Given the description of an element on the screen output the (x, y) to click on. 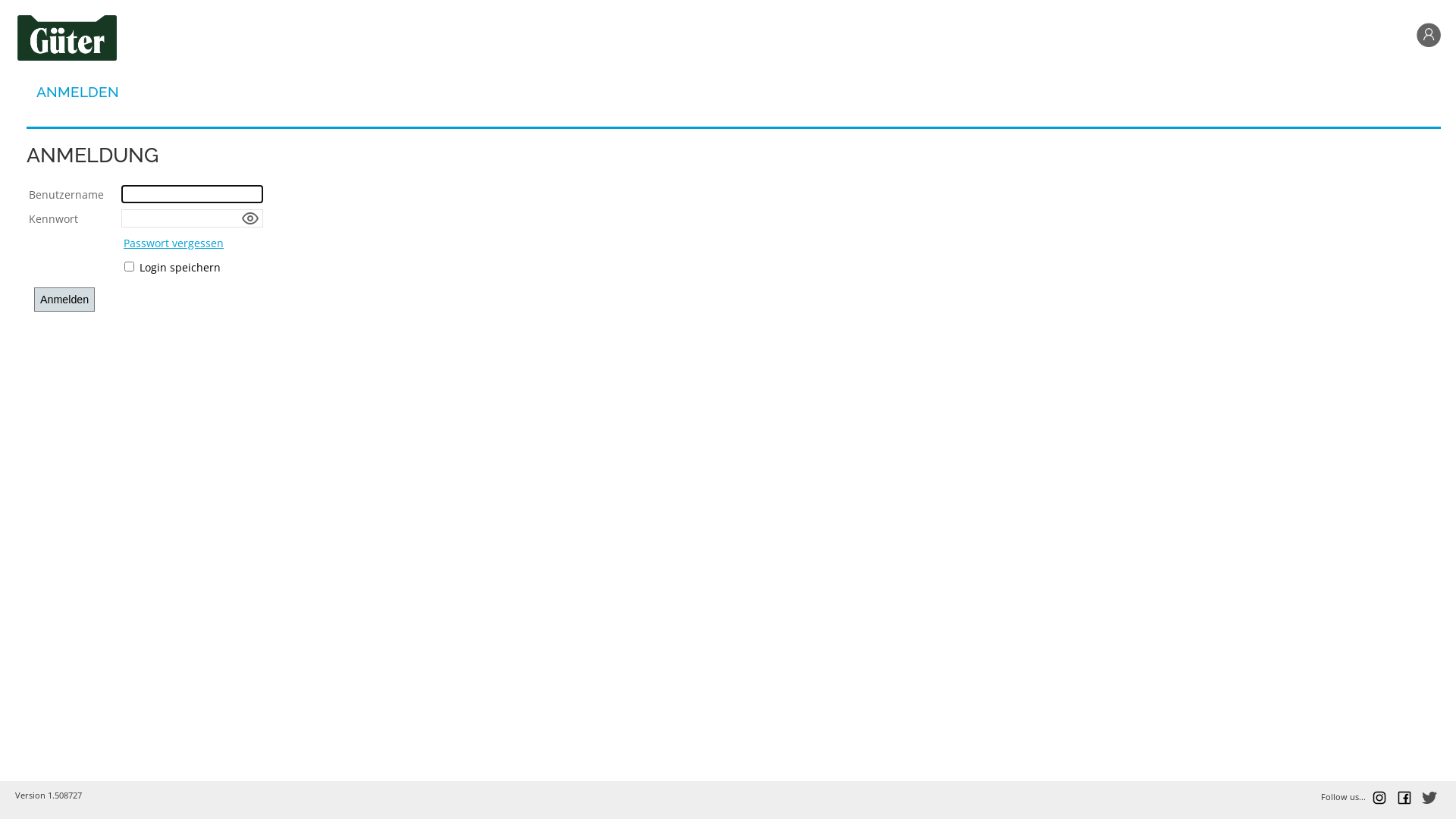
ANMELDEN Element type: text (77, 91)
Anmelden Element type: text (64, 299)
Passwort vergessen Element type: text (173, 242)
